Given the description of an element on the screen output the (x, y) to click on. 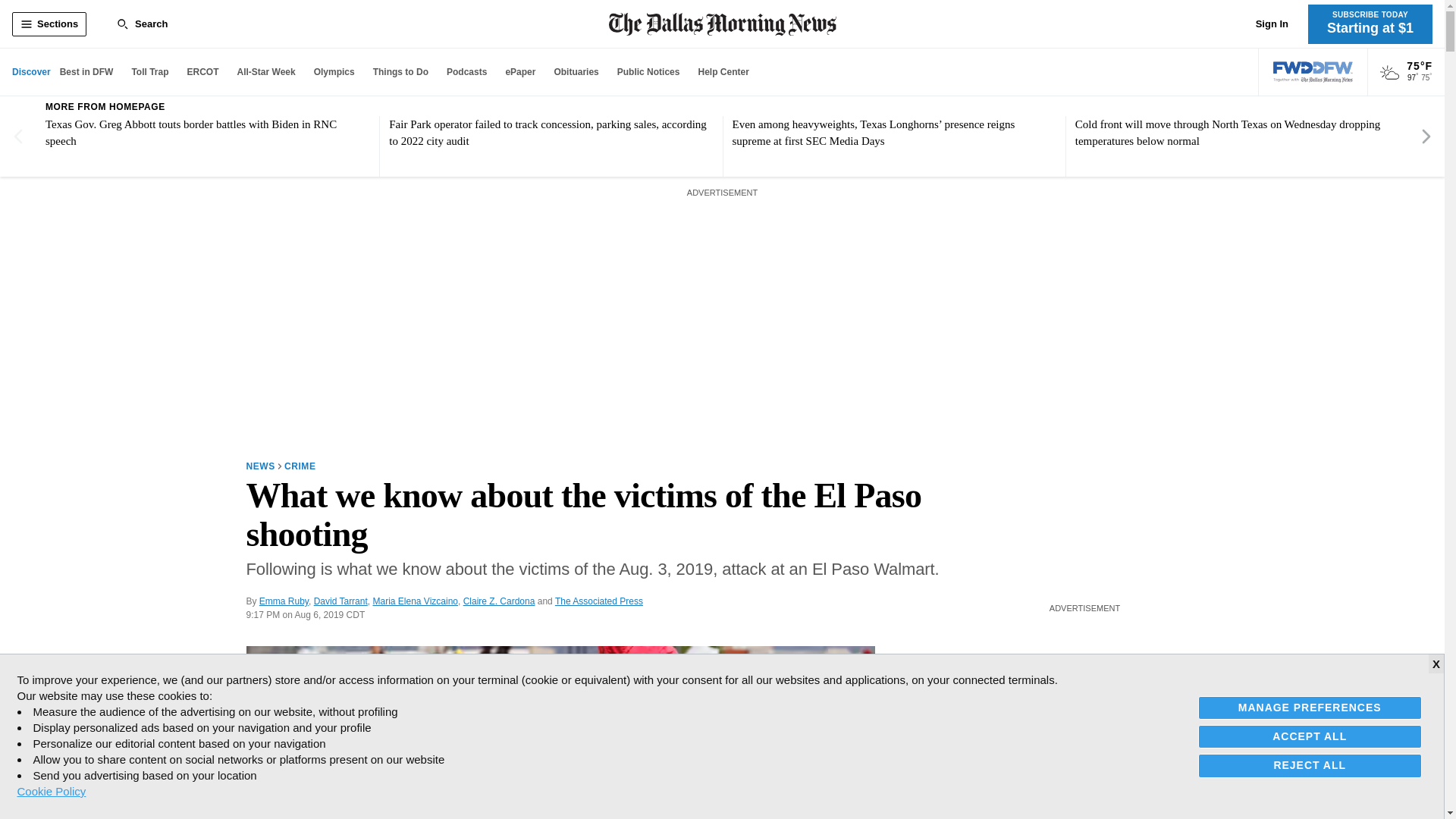
FWD DFW, Together with The Dallas Morning News (1313, 72)
3rd party ad content (1084, 721)
ACCEPT ALL (1310, 736)
REJECT ALL (1310, 765)
MANAGE PREFERENCES (1310, 707)
Cookie Policy (50, 790)
Scattered clouds (1389, 72)
